Given the description of an element on the screen output the (x, y) to click on. 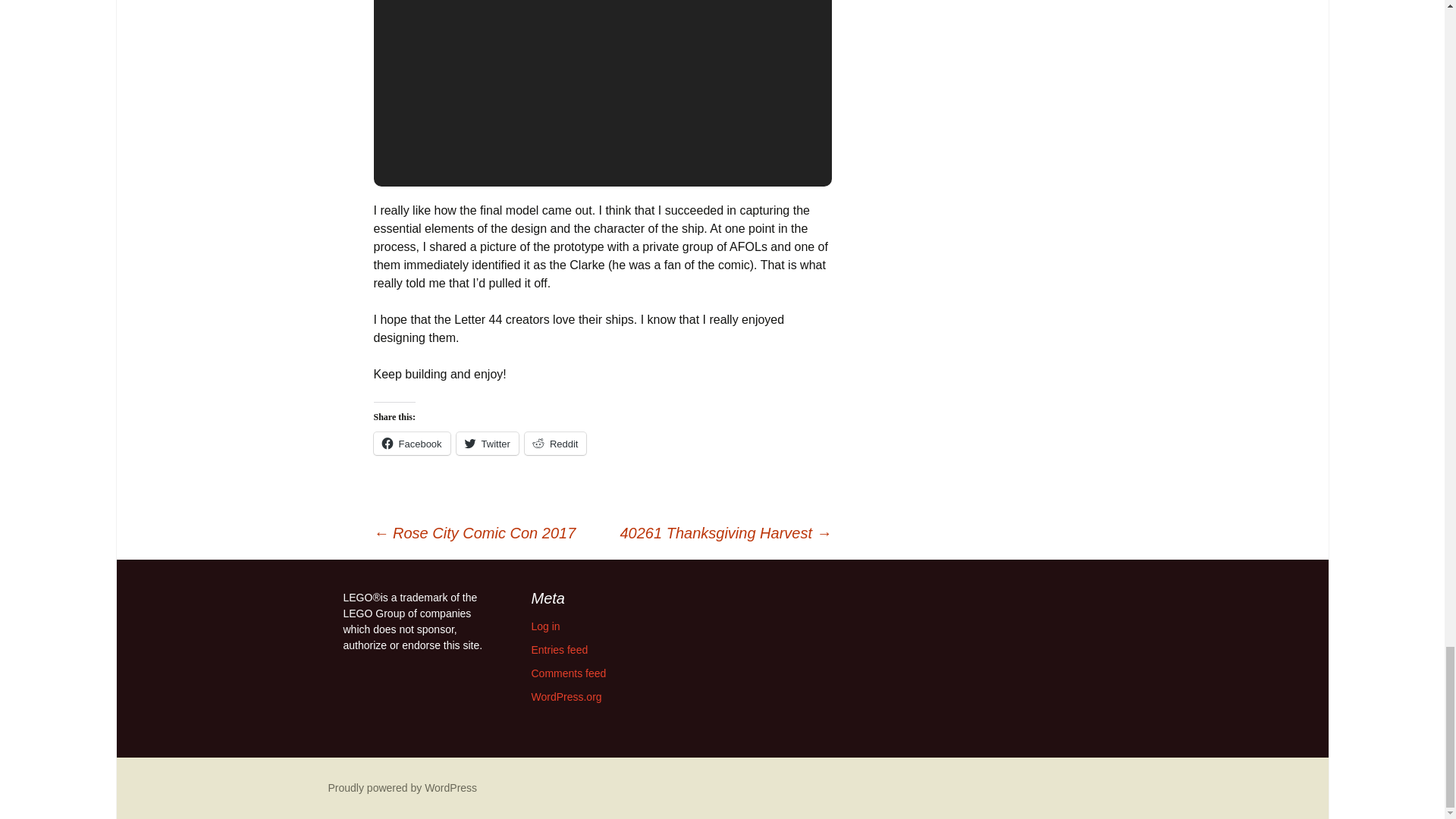
Click to share on Twitter (487, 443)
Click to share on Facebook (410, 443)
Twitter (487, 443)
Click to share on Reddit (555, 443)
Facebook (410, 443)
Reddit (555, 443)
